Given the description of an element on the screen output the (x, y) to click on. 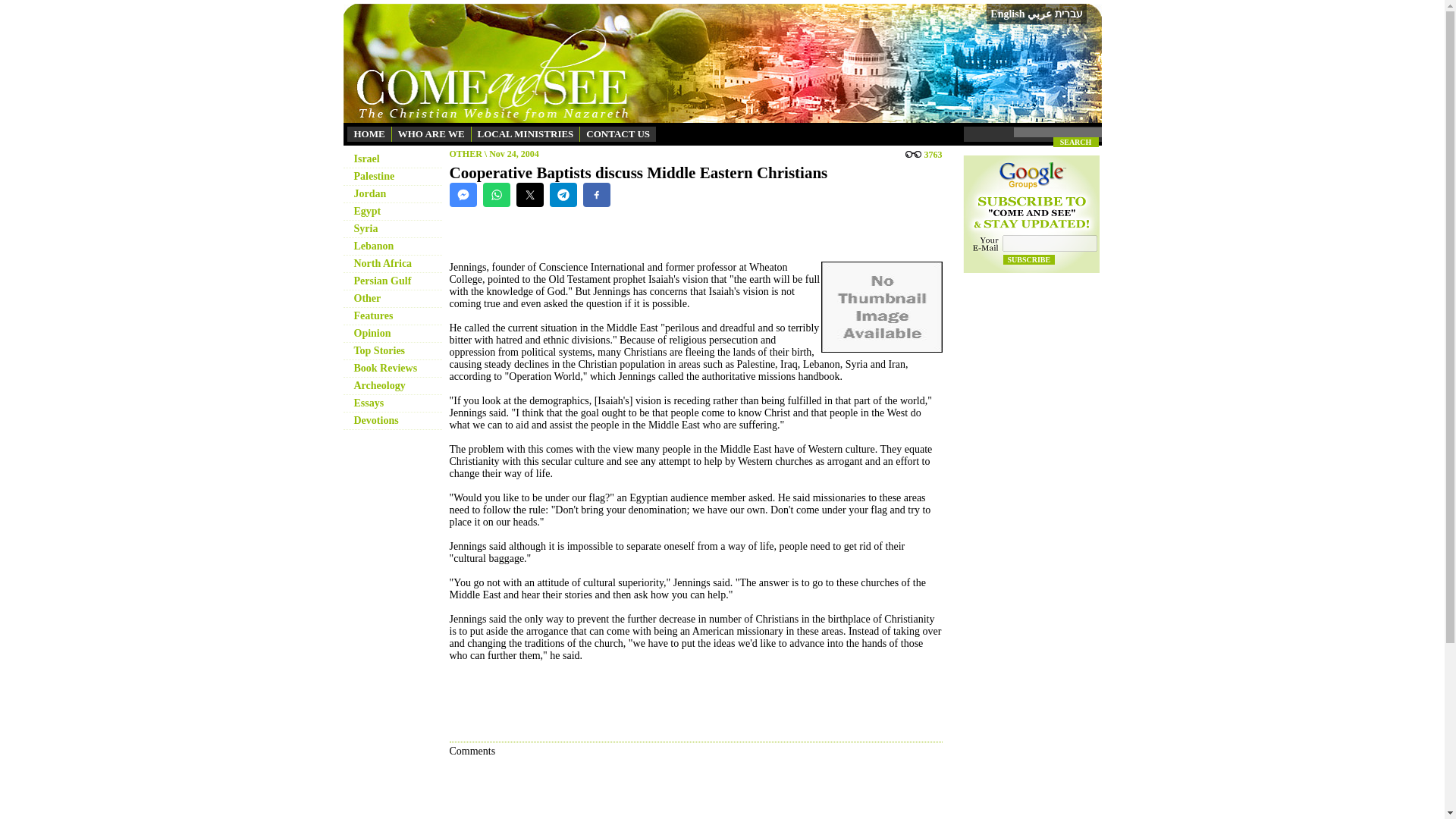
Palestine (373, 175)
Features (373, 315)
OTHER (464, 153)
Other (366, 297)
WHO ARE WE (431, 133)
Persian Gulf (381, 280)
Book Reviews (384, 367)
Archeology (378, 385)
Opinion (371, 333)
Book Reviews (384, 367)
LOCAL MINISTRIES (525, 133)
Egypt (366, 211)
Israel (365, 158)
Local Ministries (525, 133)
Archeology (378, 385)
